Given the description of an element on the screen output the (x, y) to click on. 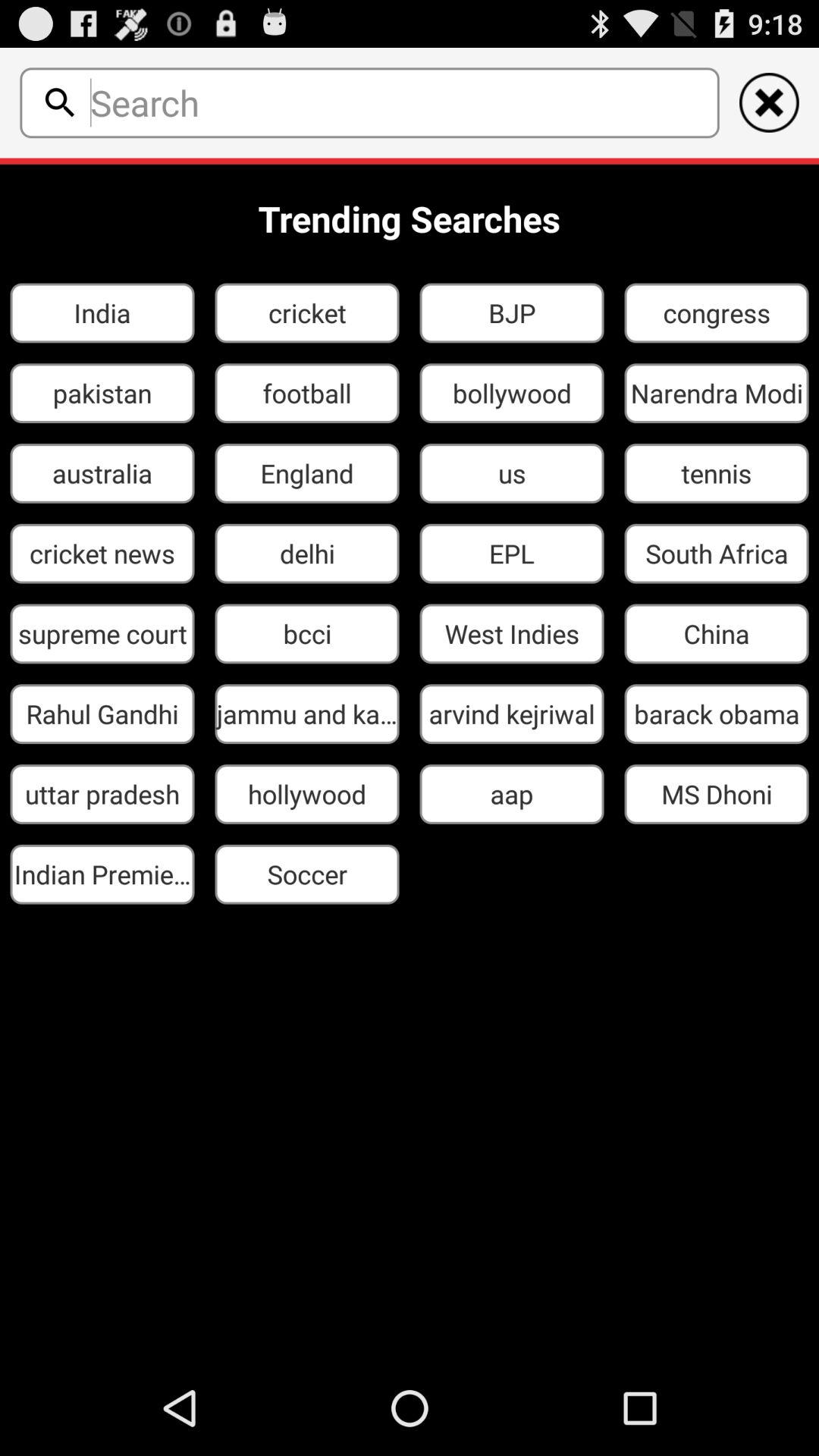
serch (399, 102)
